Given the description of an element on the screen output the (x, y) to click on. 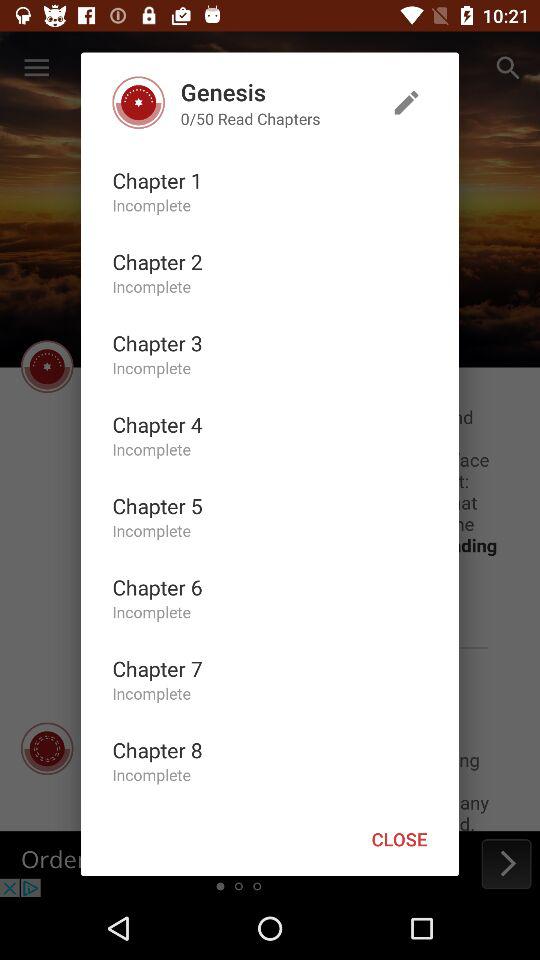
launch item above the close (406, 102)
